Given the description of an element on the screen output the (x, y) to click on. 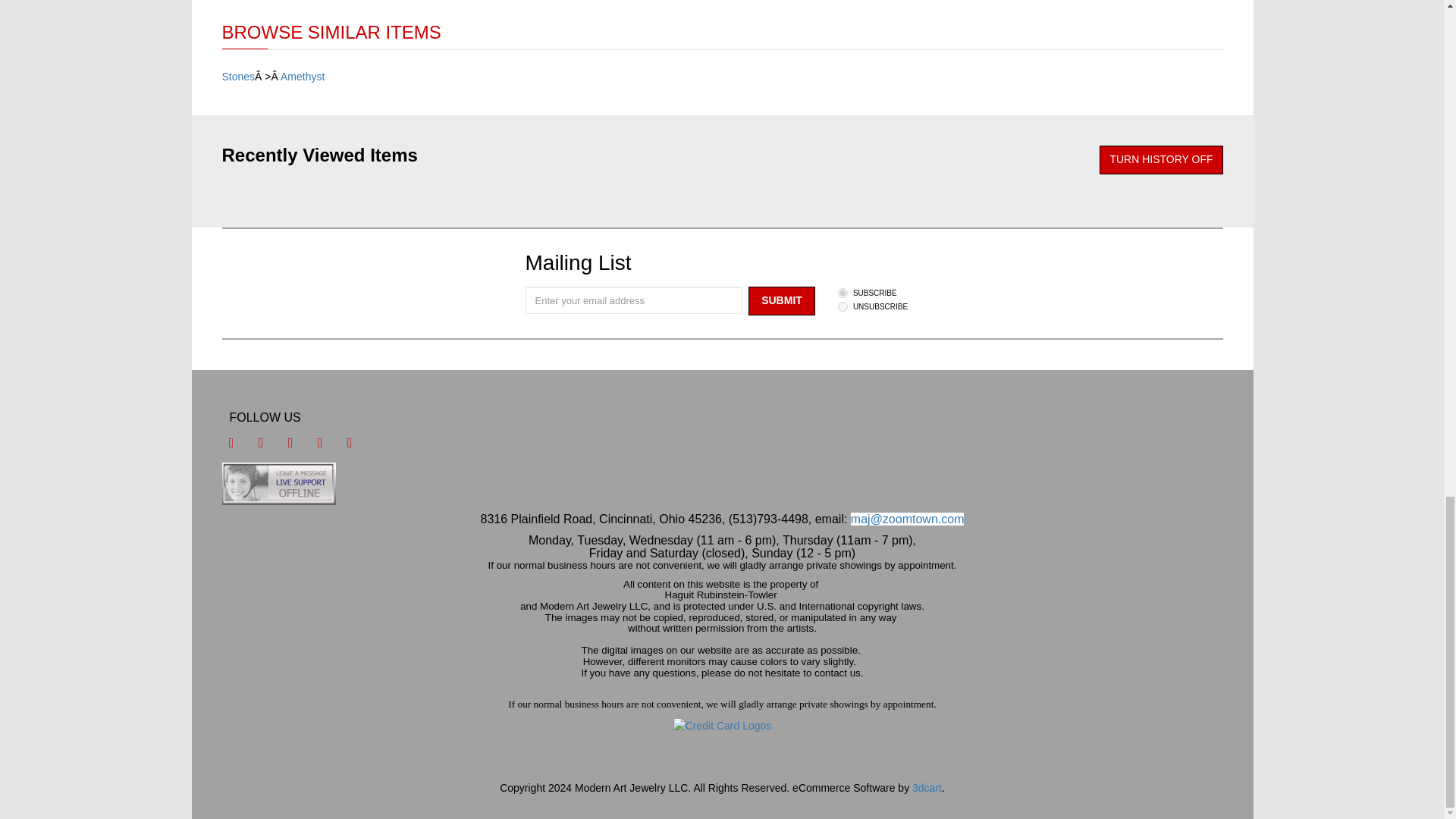
1 (842, 293)
0 (842, 307)
Credit Card Logos (721, 725)
